Given the description of an element on the screen output the (x, y) to click on. 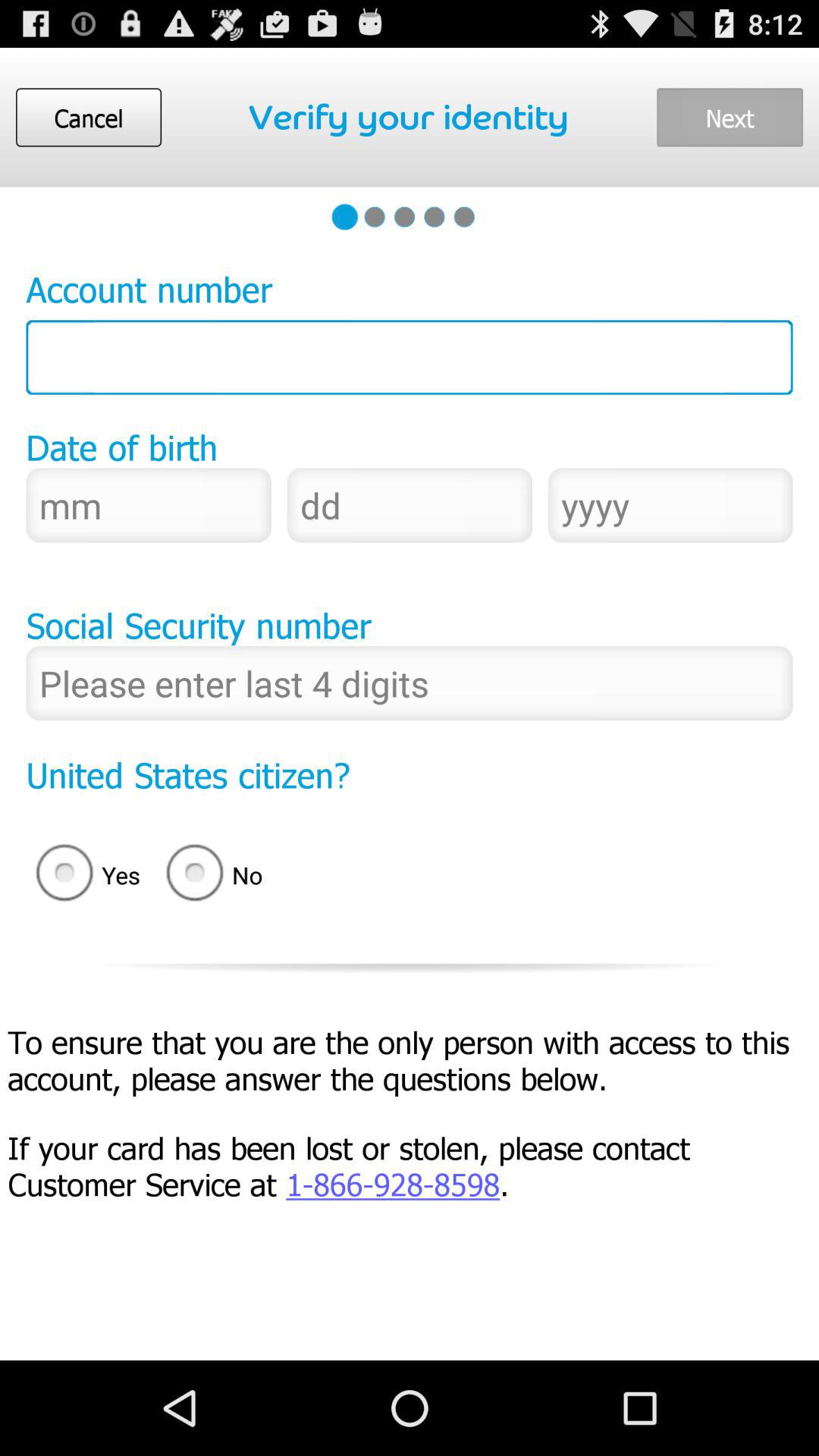
tap item below the united states citizen? icon (83, 875)
